Given the description of an element on the screen output the (x, y) to click on. 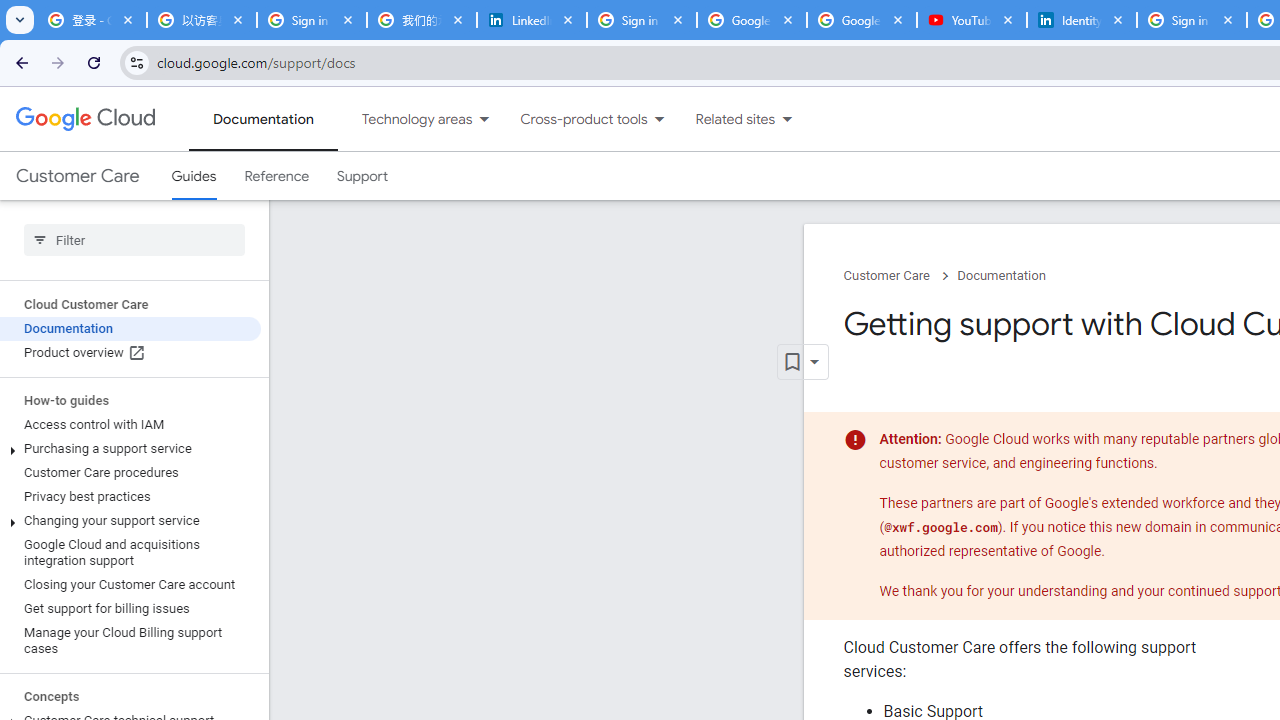
Identity verification via Persona | LinkedIn Help (1081, 20)
Sign in - Google Accounts (1191, 20)
Related sites (722, 119)
Customer Care procedures (130, 472)
Open dropdown (802, 362)
Sign in - Google Accounts (312, 20)
Support (362, 175)
Customer Care (77, 175)
